Given the description of an element on the screen output the (x, y) to click on. 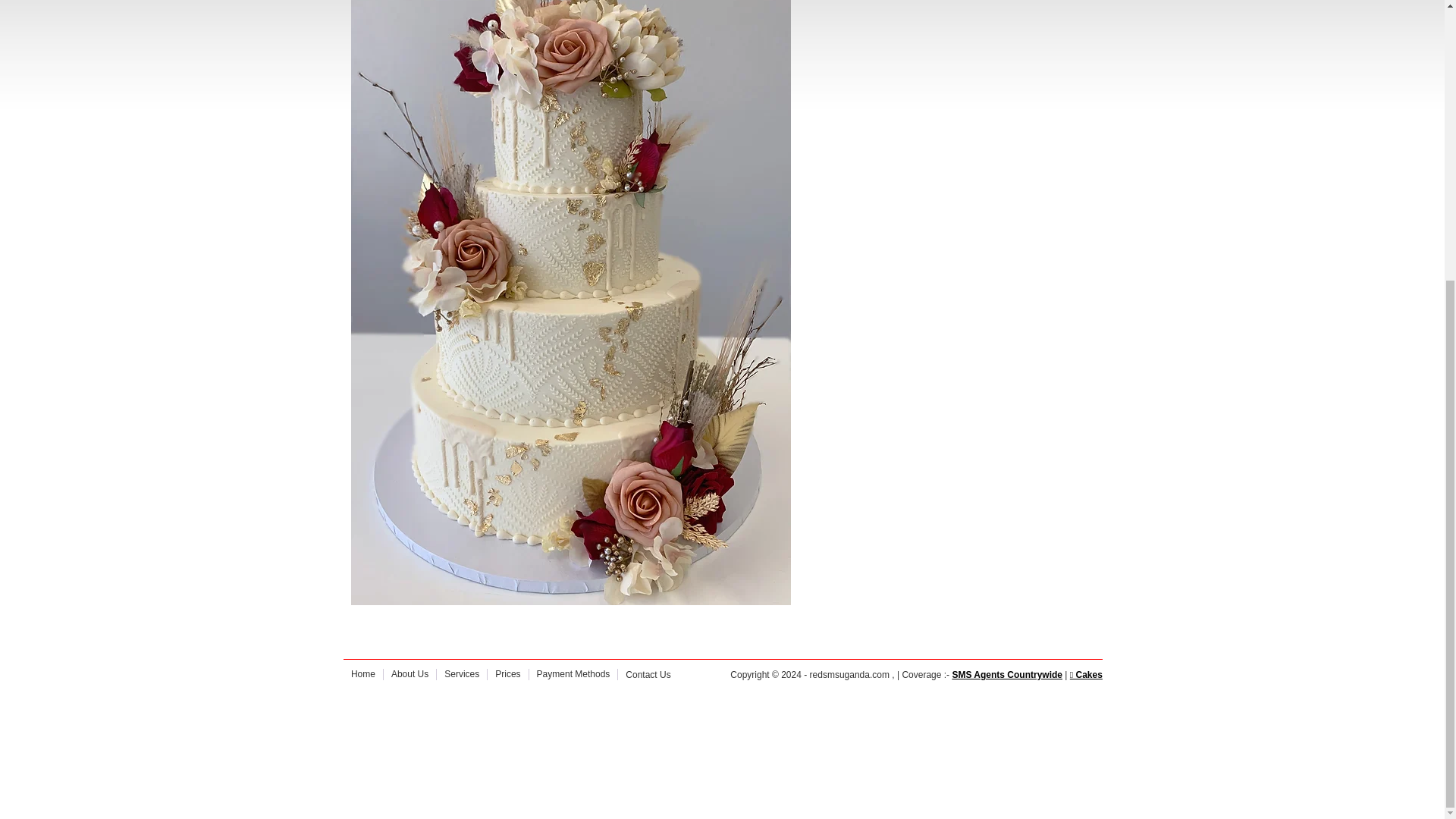
About Us (409, 674)
Bulk SMS Agents Uganda (1007, 674)
Home (362, 674)
SMS Agents Countrywide (1007, 674)
Wedding Cakes, Birthday Cakes Agents Uganda Bakes by Pam (1086, 674)
Prices (507, 674)
Contact Us (647, 674)
Services (461, 674)
Payment Methods (573, 674)
